Given the description of an element on the screen output the (x, y) to click on. 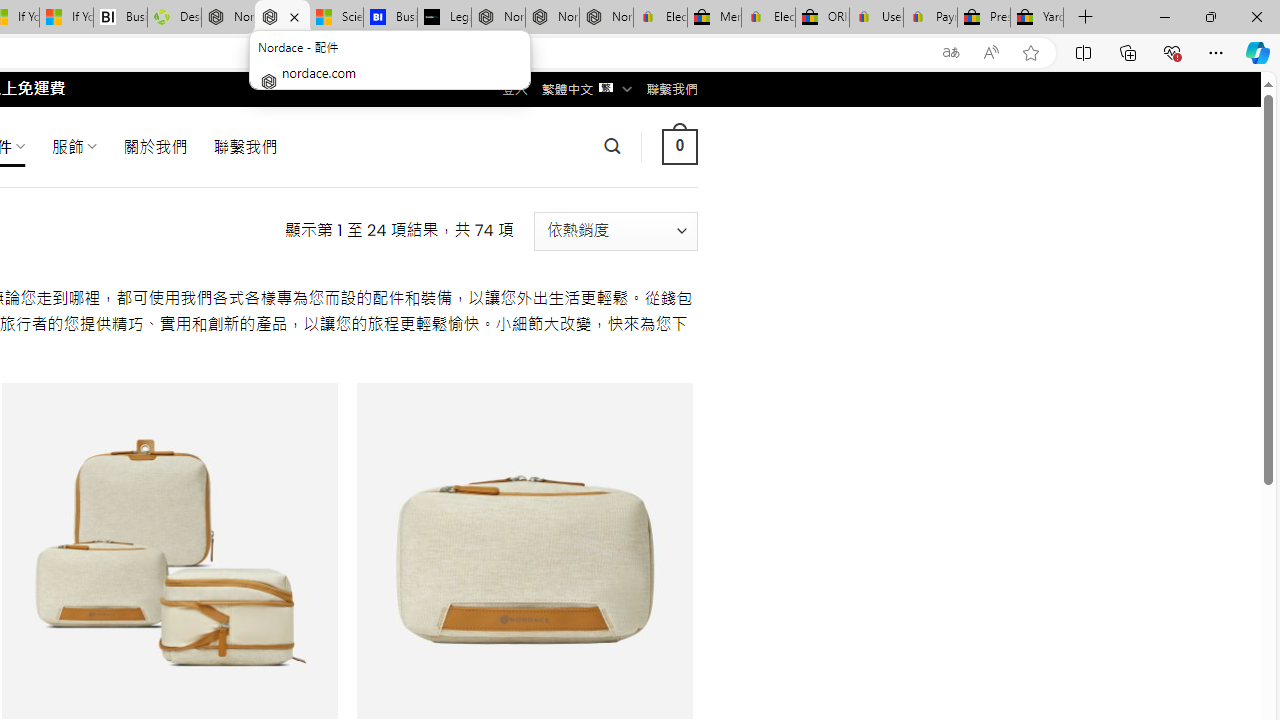
User Privacy Notice | eBay (875, 17)
Yard, Garden & Outdoor Living (1037, 17)
